Given the description of an element on the screen output the (x, y) to click on. 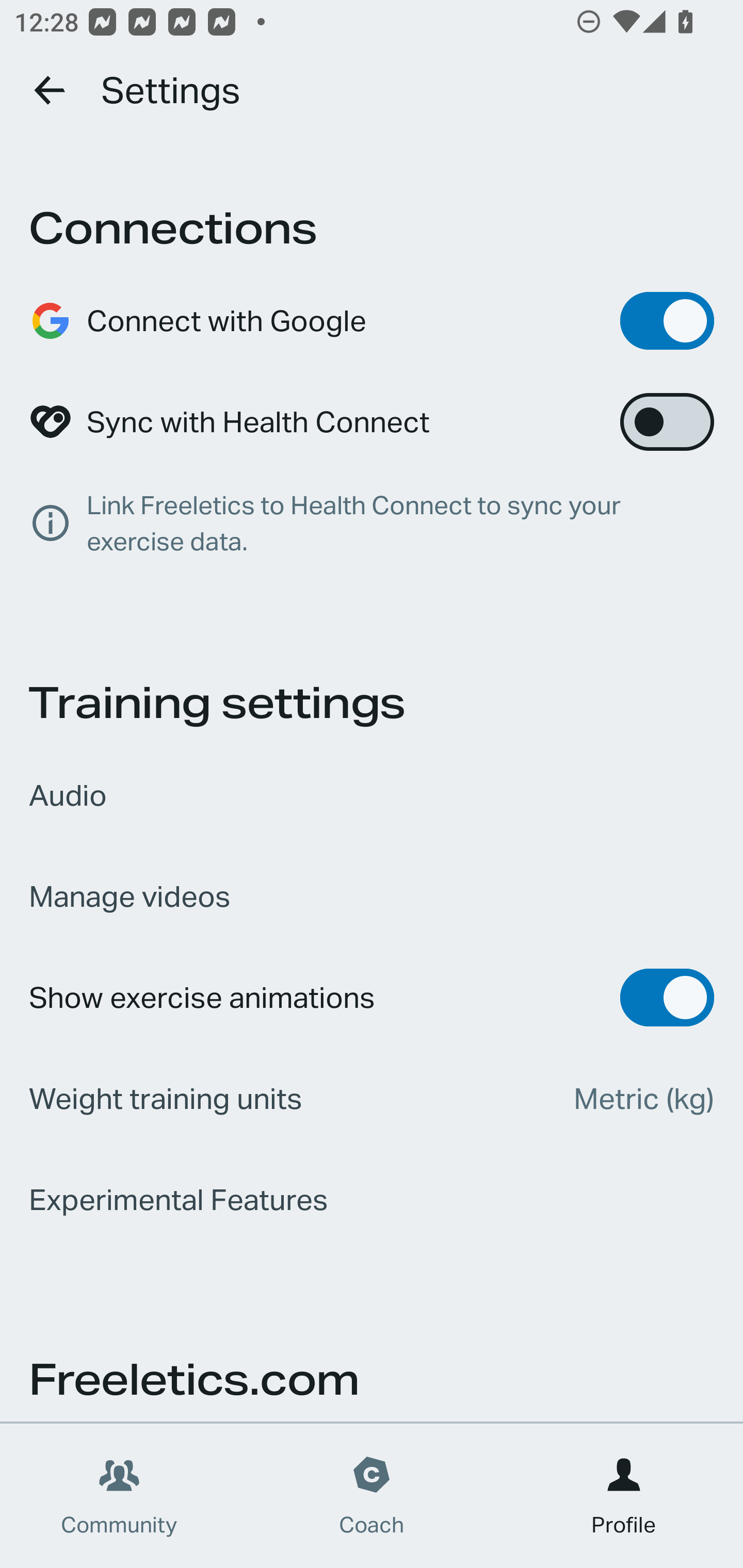
Go back (50, 90)
Connect with Google (371, 320)
Sync with Health Connect (371, 421)
Audio (371, 794)
Manage videos (371, 896)
Show exercise animations (371, 997)
Weight training units Metric (kg) (371, 1098)
Experimental Features (371, 1199)
Community (119, 1495)
Coach (371, 1495)
